Given the description of an element on the screen output the (x, y) to click on. 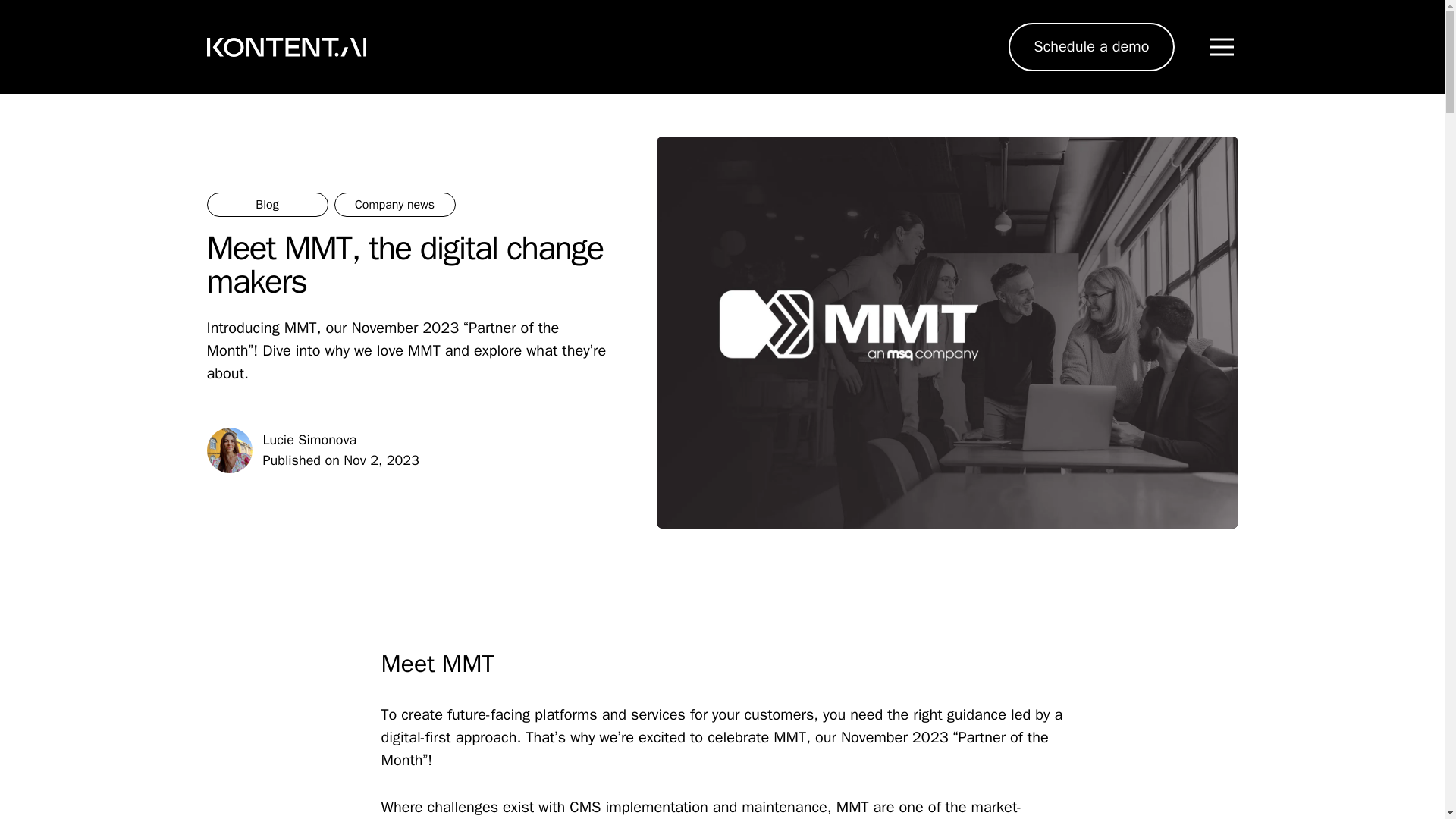
Kontent.ai (285, 46)
Blog (266, 204)
Schedule a demo (1091, 46)
Company news (393, 204)
Lucie Simonova (309, 439)
